Given the description of an element on the screen output the (x, y) to click on. 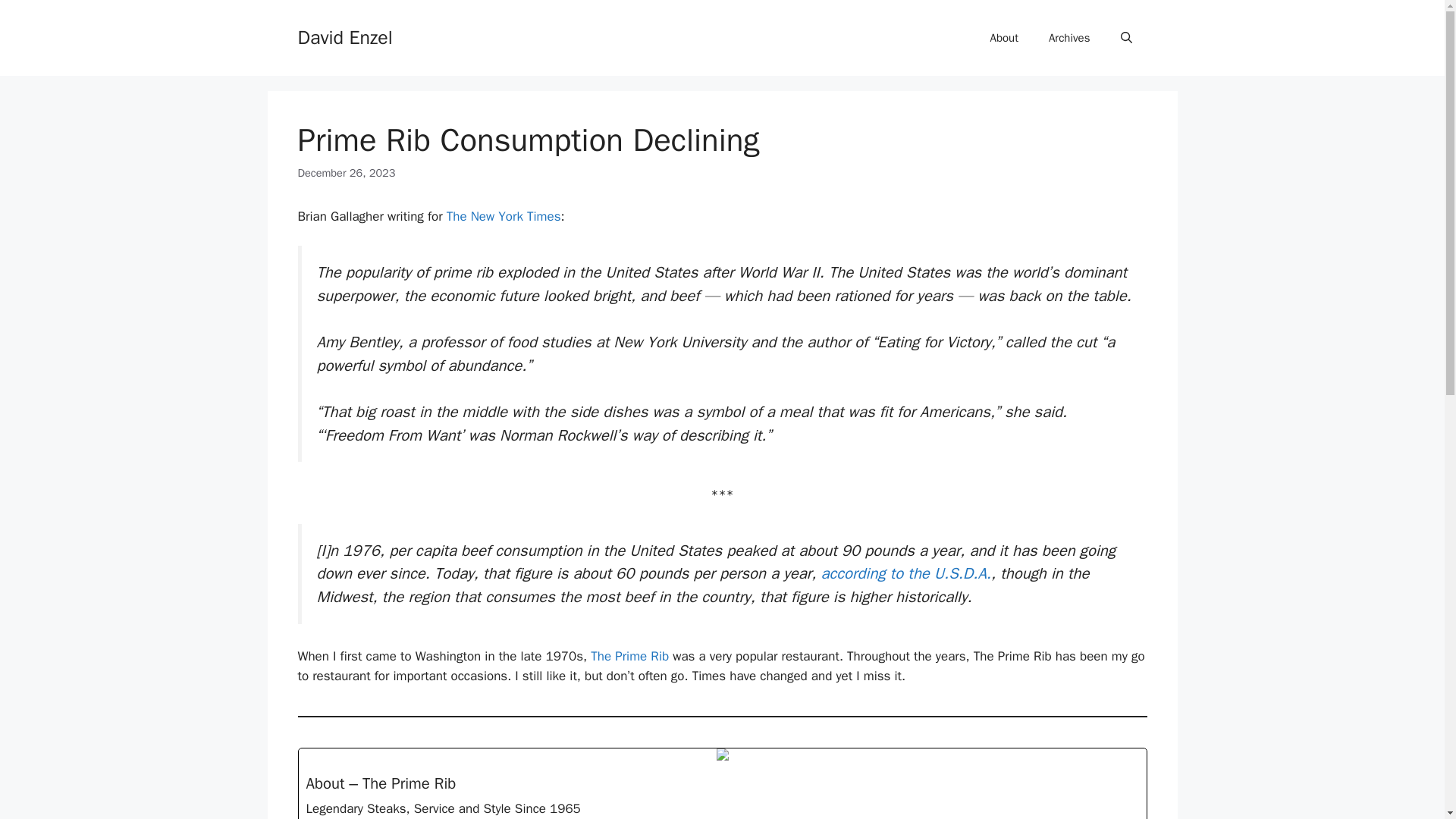
About (1004, 37)
The Prime Rib (629, 656)
according to the U.S.D.A. (906, 573)
David Enzel (344, 37)
Archives (1069, 37)
The New York Times (503, 216)
